Given the description of an element on the screen output the (x, y) to click on. 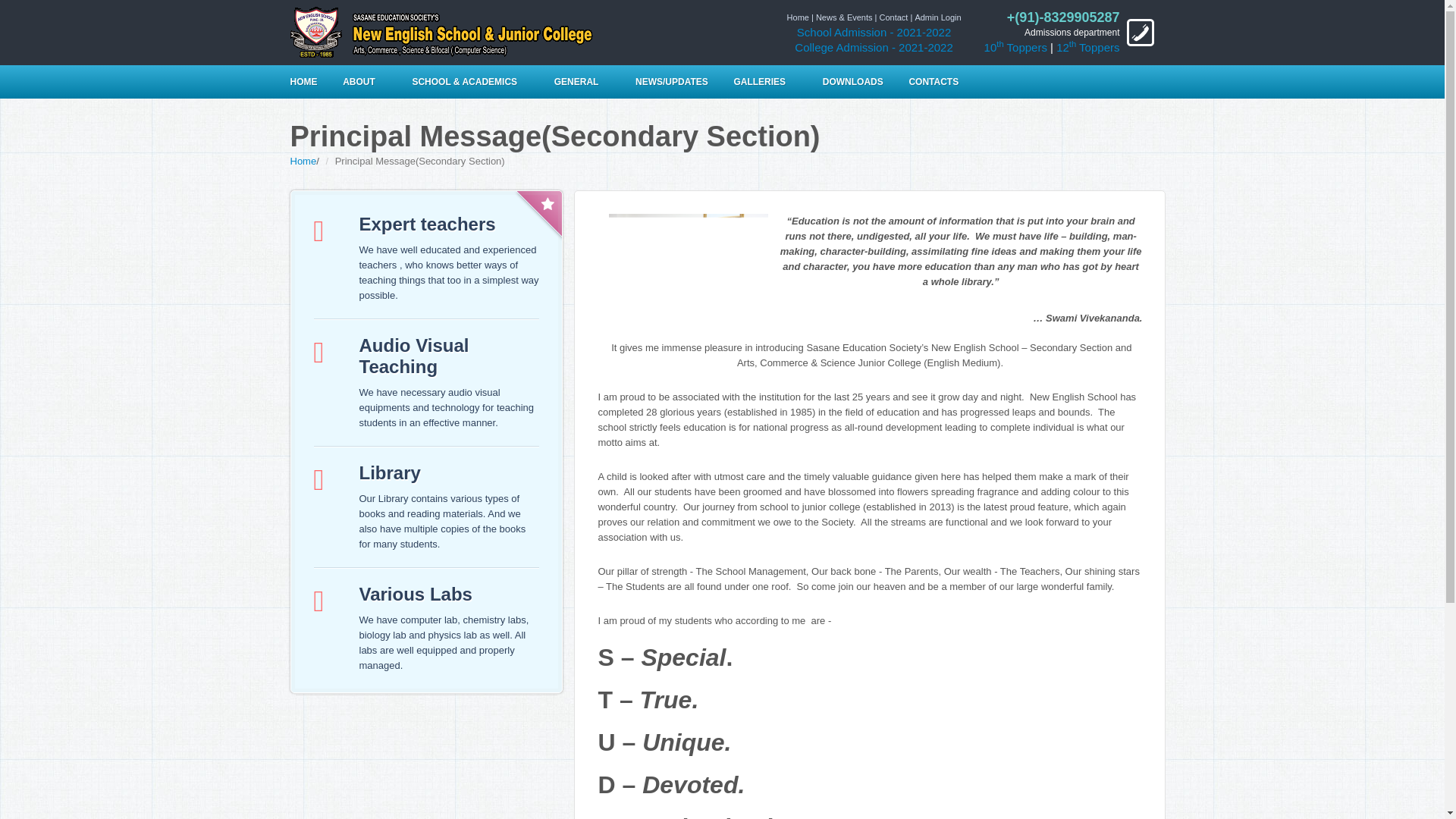
News and Events (843, 17)
Home (798, 17)
Admin Login (937, 17)
ABOUT (369, 82)
Contact (893, 17)
Home (798, 17)
GENERAL (587, 82)
HOME (309, 82)
10th Toppers (1015, 47)
College Admission - 2021-2022 (873, 47)
Contact (937, 17)
School Admission - 2021-2022 (873, 31)
Contact (893, 17)
12th Toppers (1088, 47)
